Given the description of an element on the screen output the (x, y) to click on. 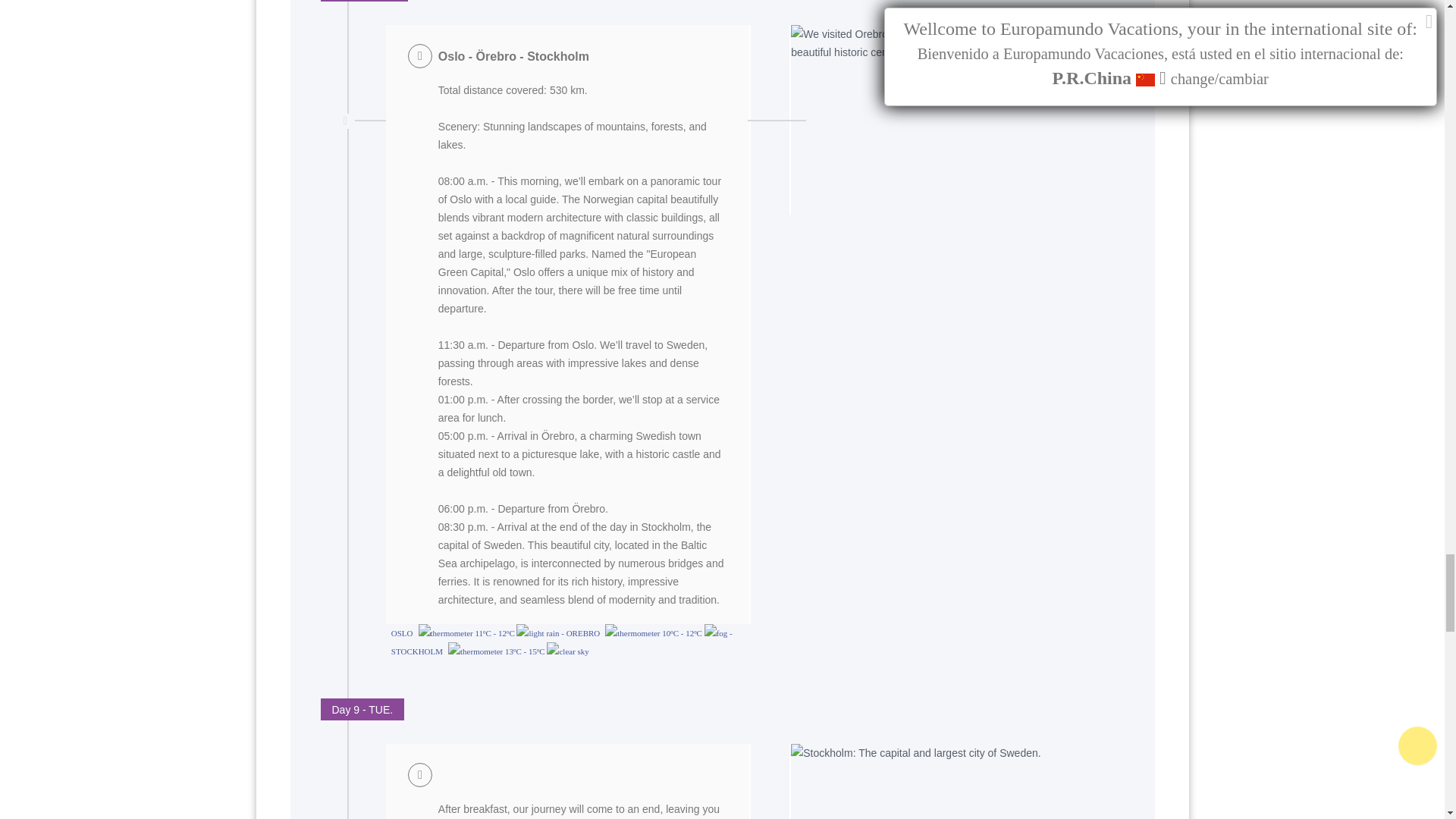
clear sky (567, 651)
light rain (537, 633)
fog (716, 633)
